Given the description of an element on the screen output the (x, y) to click on. 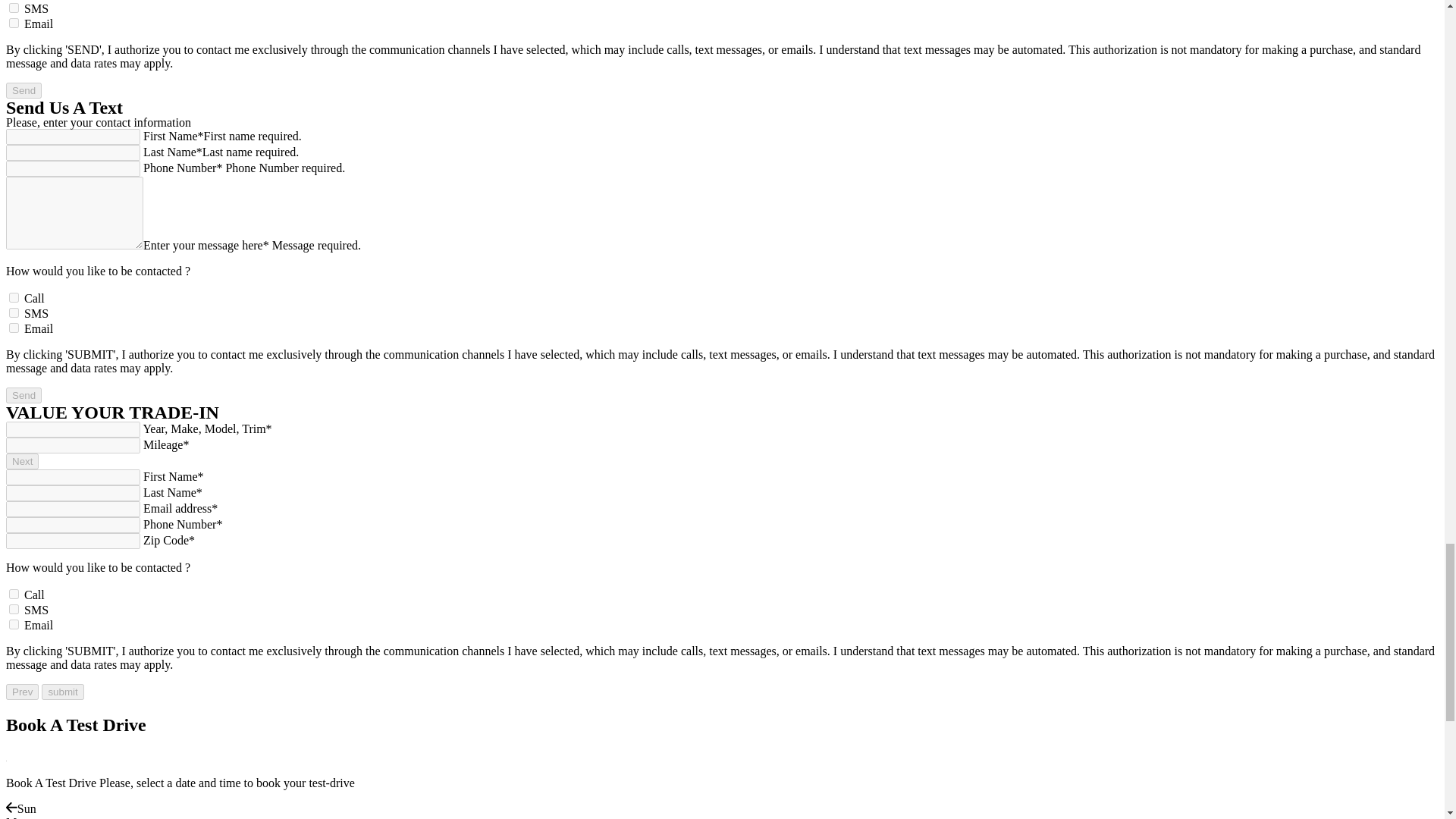
Send (23, 90)
Send (23, 395)
submit (62, 691)
Prev (22, 691)
Next (22, 461)
